Given the description of an element on the screen output the (x, y) to click on. 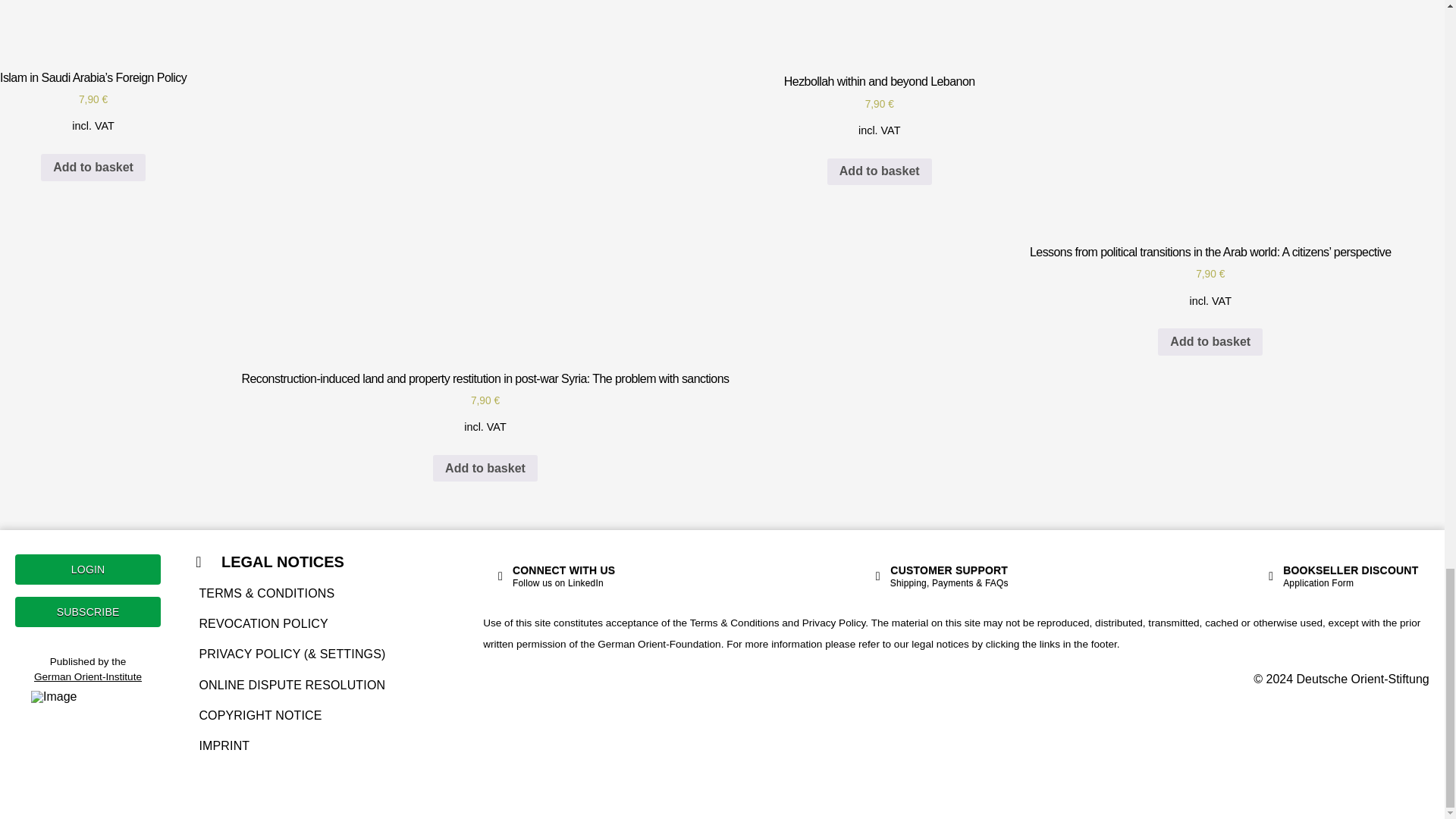
Add to basket (1209, 341)
Add to basket (879, 171)
German Orient-Institute (87, 676)
ONLINE DISPUTE RESOLUTION (291, 684)
REVOCATION POLICY (291, 623)
Add to basket (484, 468)
LOGIN (87, 569)
SUBSCRIBE (87, 612)
Add to basket (92, 166)
